Given the description of an element on the screen output the (x, y) to click on. 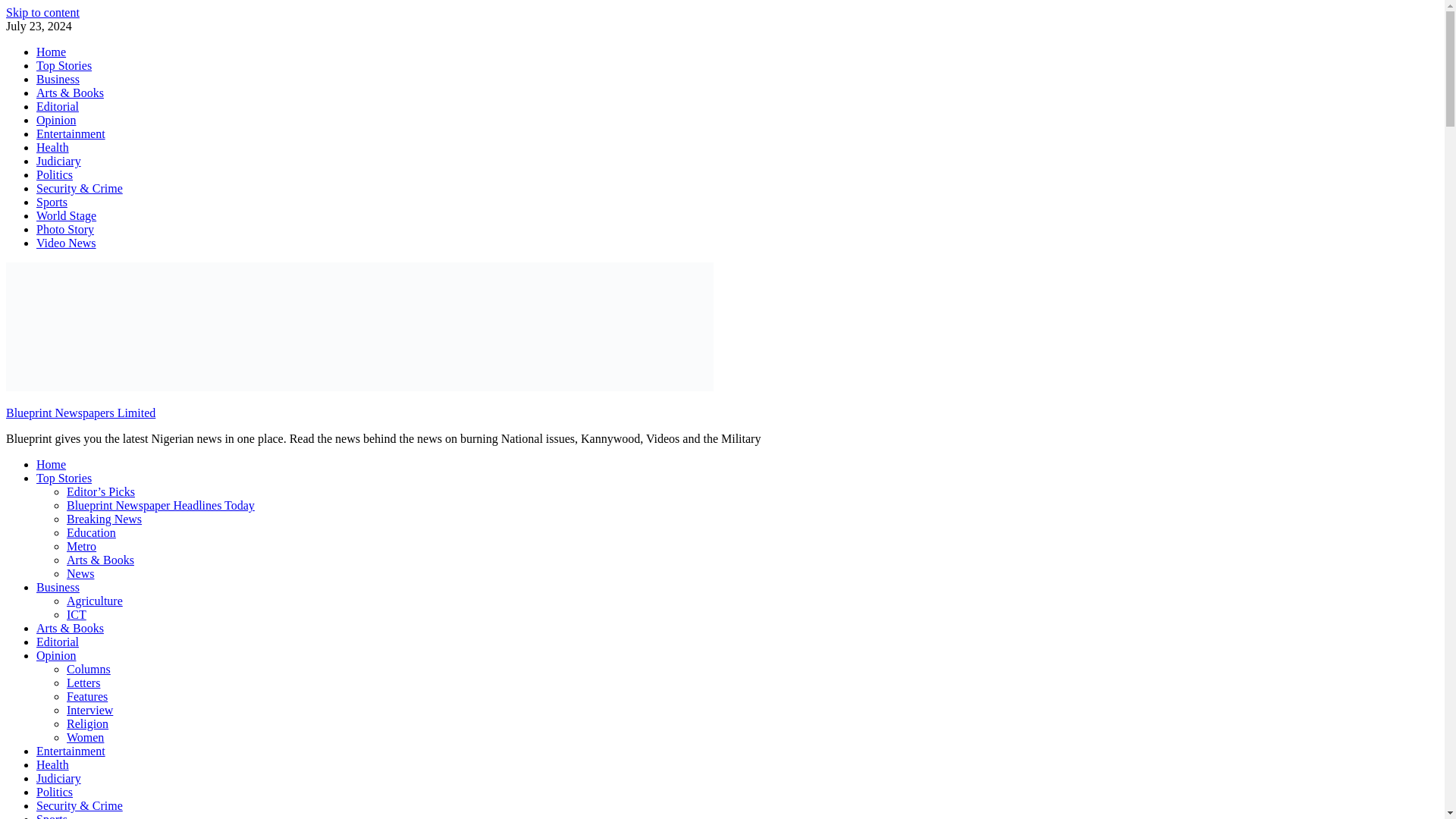
Columns (88, 668)
Top Stories (63, 477)
Sports (51, 201)
Opinion (55, 655)
Video News (66, 242)
Interview (89, 709)
News (80, 573)
Opinion (55, 119)
Features (86, 696)
Politics (54, 174)
Entertainment (70, 750)
Home (50, 51)
Women (84, 737)
Business (58, 586)
Business (58, 78)
